Given the description of an element on the screen output the (x, y) to click on. 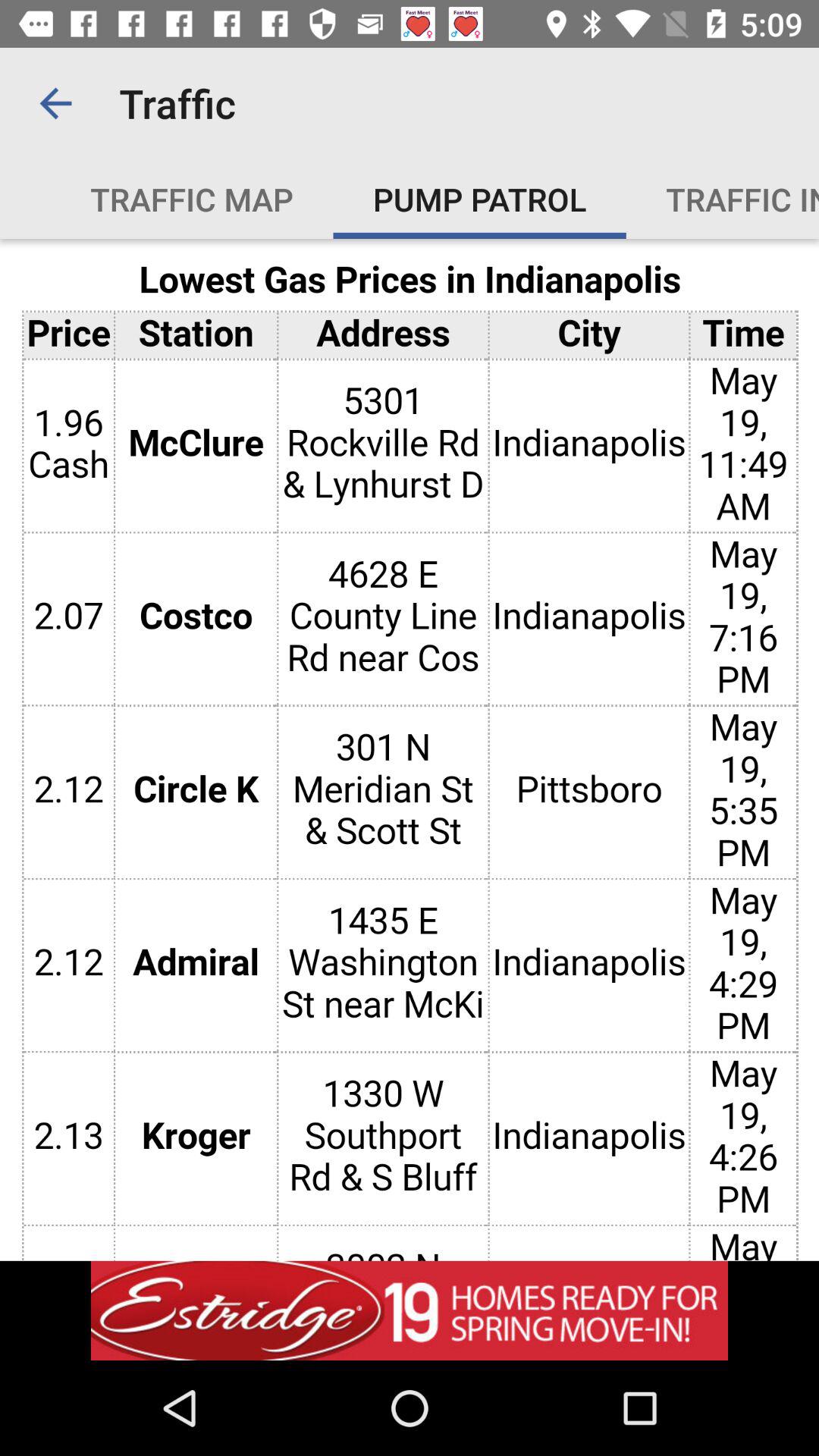
advertisement page (409, 749)
